Given the description of an element on the screen output the (x, y) to click on. 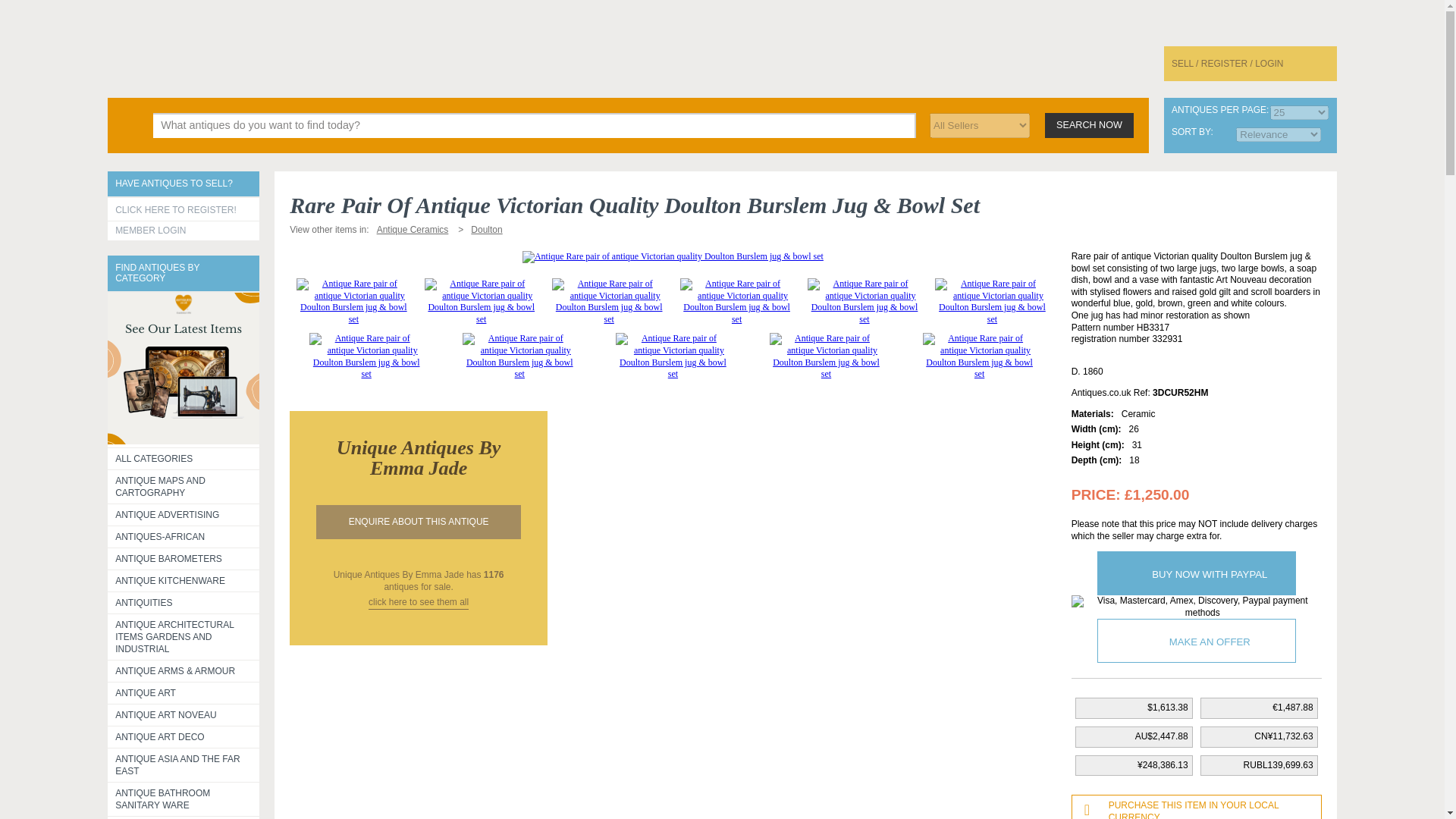
ANTIQUE MAPS AND CARTOGRAPHY (183, 486)
ANTIQUE ADVERTISING (183, 513)
ALL CATEGORIES (183, 457)
ANTIQUE KITCHENWARE (183, 580)
CLICK HERE TO REGISTER! (183, 209)
ANTIQUE ASIA AND THE FAR EAST (183, 764)
ANTIQUE ART DECO (183, 736)
ANTIQUITIES (183, 601)
ANTIQUE ART (183, 692)
ANTIQUE ART NOVEAU (183, 713)
ANTIQUE BAROMETERS (183, 557)
MEMBER LOGIN (183, 230)
SEARCH NOW (1089, 124)
ANTIQUE BATHROOM SANITARY WARE (183, 798)
ANTIQUES-AFRICAN (183, 536)
